Given the description of an element on the screen output the (x, y) to click on. 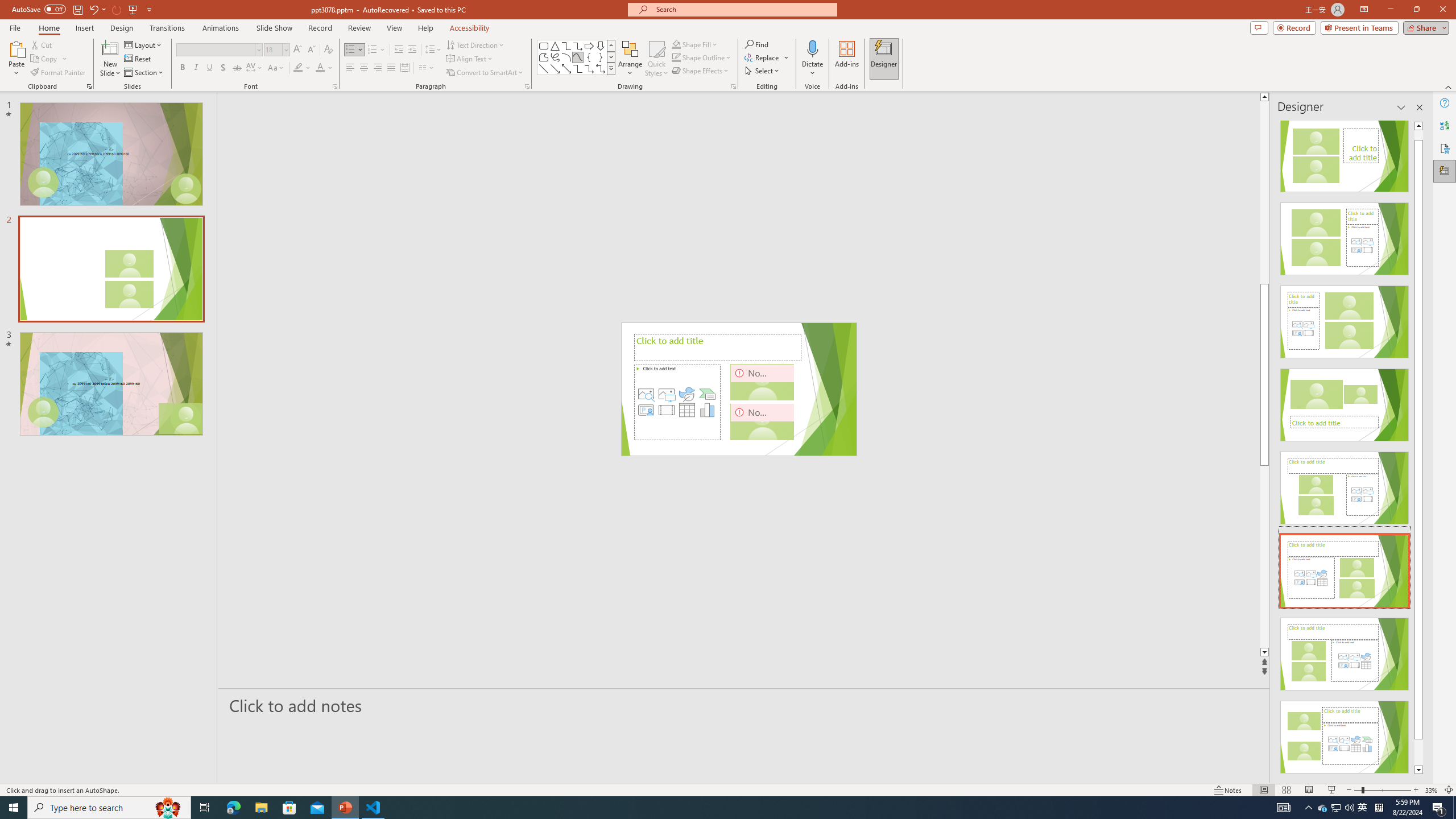
Shape Outline Green, Accent 1 (675, 56)
Content Placeholder (677, 402)
